Given the description of an element on the screen output the (x, y) to click on. 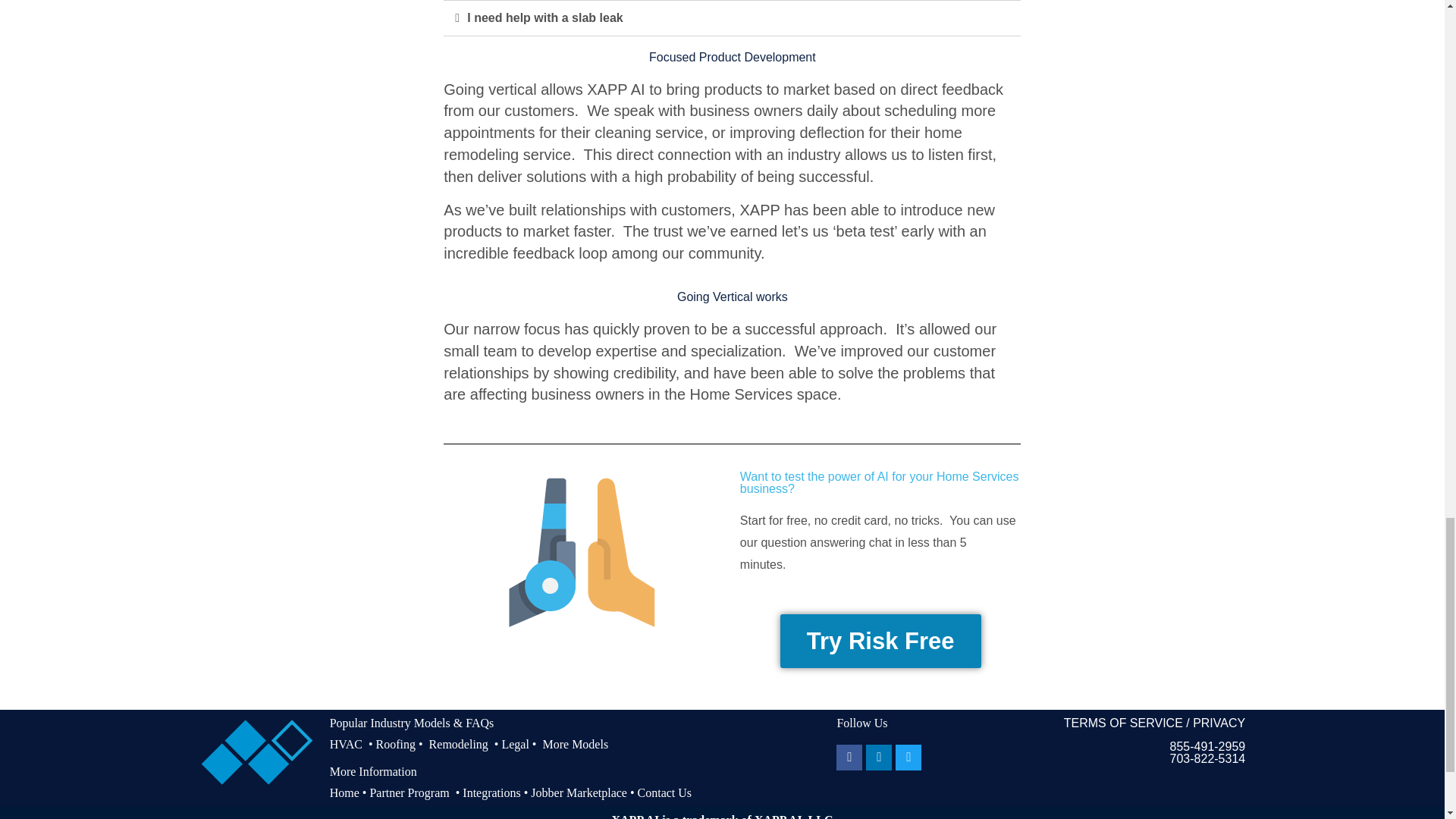
I need help with a slab leak (545, 17)
